Given the description of an element on the screen output the (x, y) to click on. 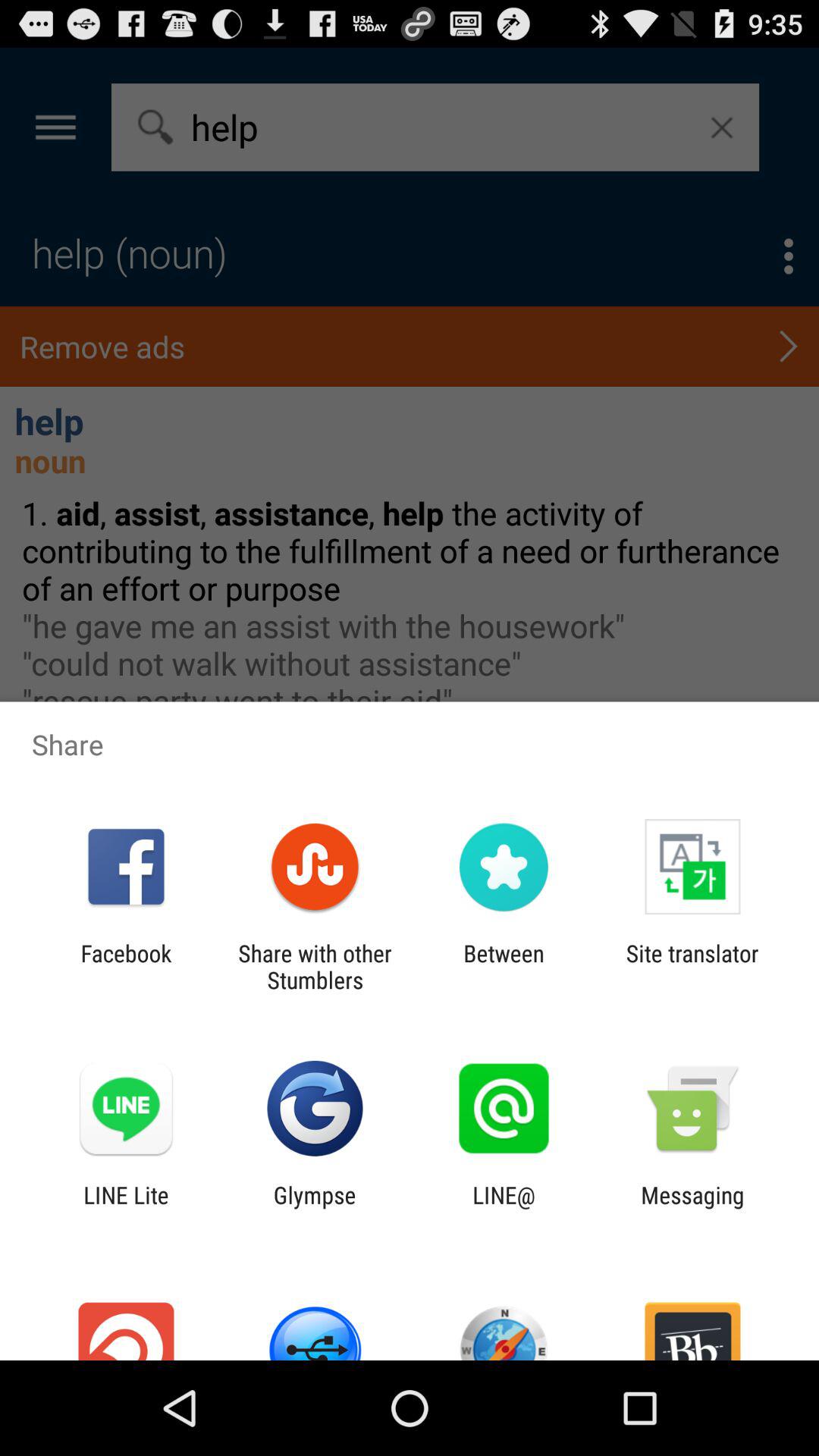
swipe to the site translator item (692, 966)
